Given the description of an element on the screen output the (x, y) to click on. 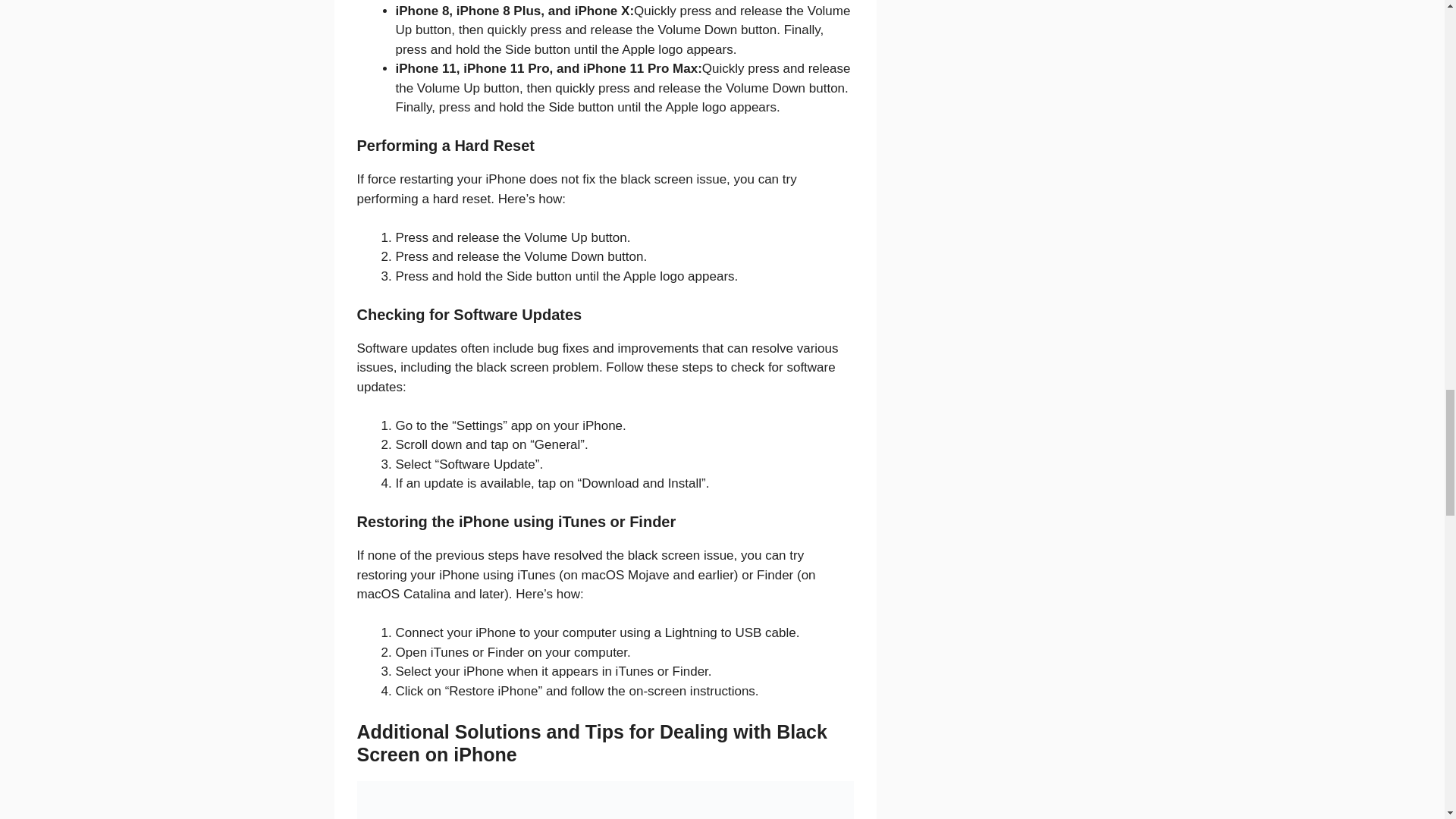
Iphone screen fix (604, 800)
